Given the description of an element on the screen output the (x, y) to click on. 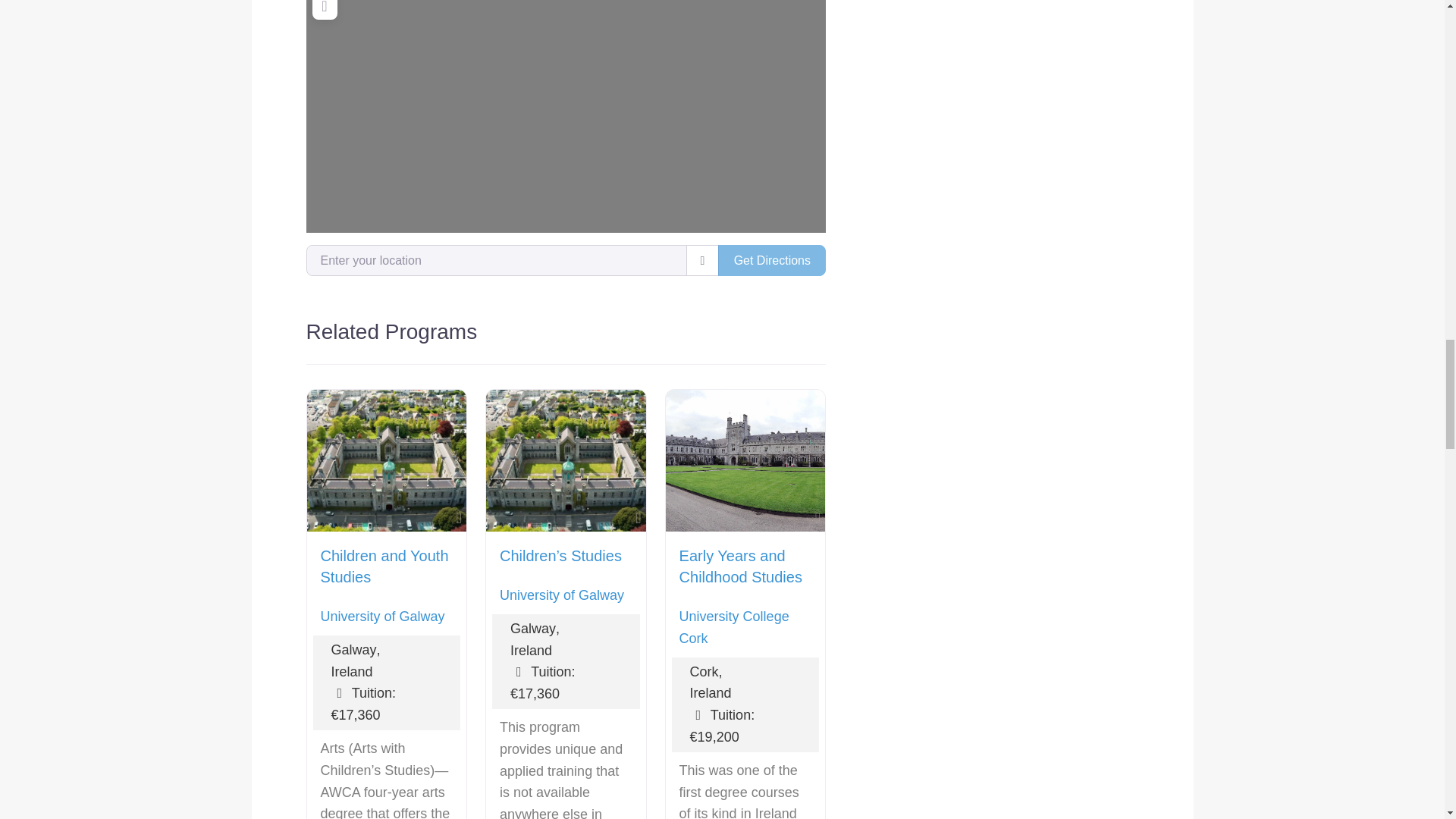
View: Children and Youth Studies (384, 566)
use my location (702, 259)
View: Early Years and Childhood Studies (740, 566)
